Given the description of an element on the screen output the (x, y) to click on. 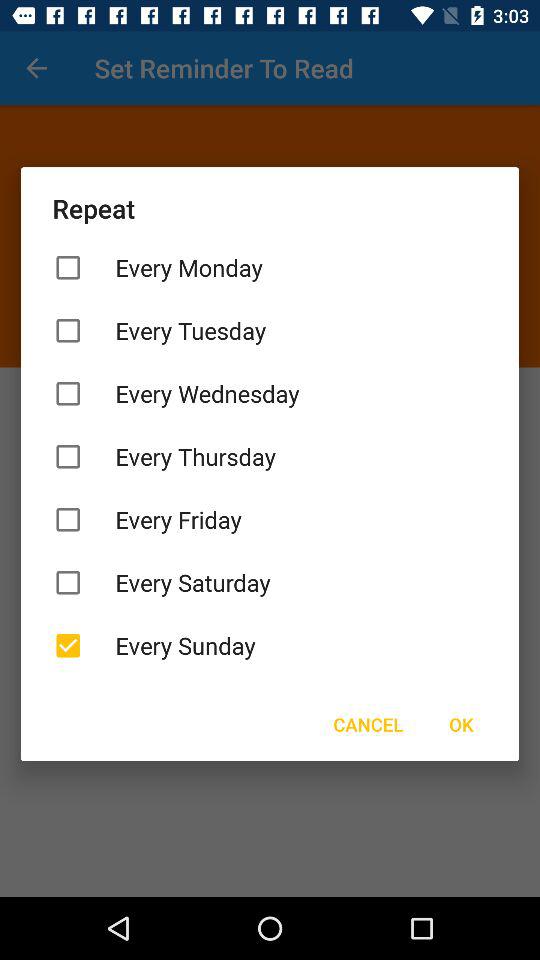
open the icon below every wednesday (270, 456)
